Given the description of an element on the screen output the (x, y) to click on. 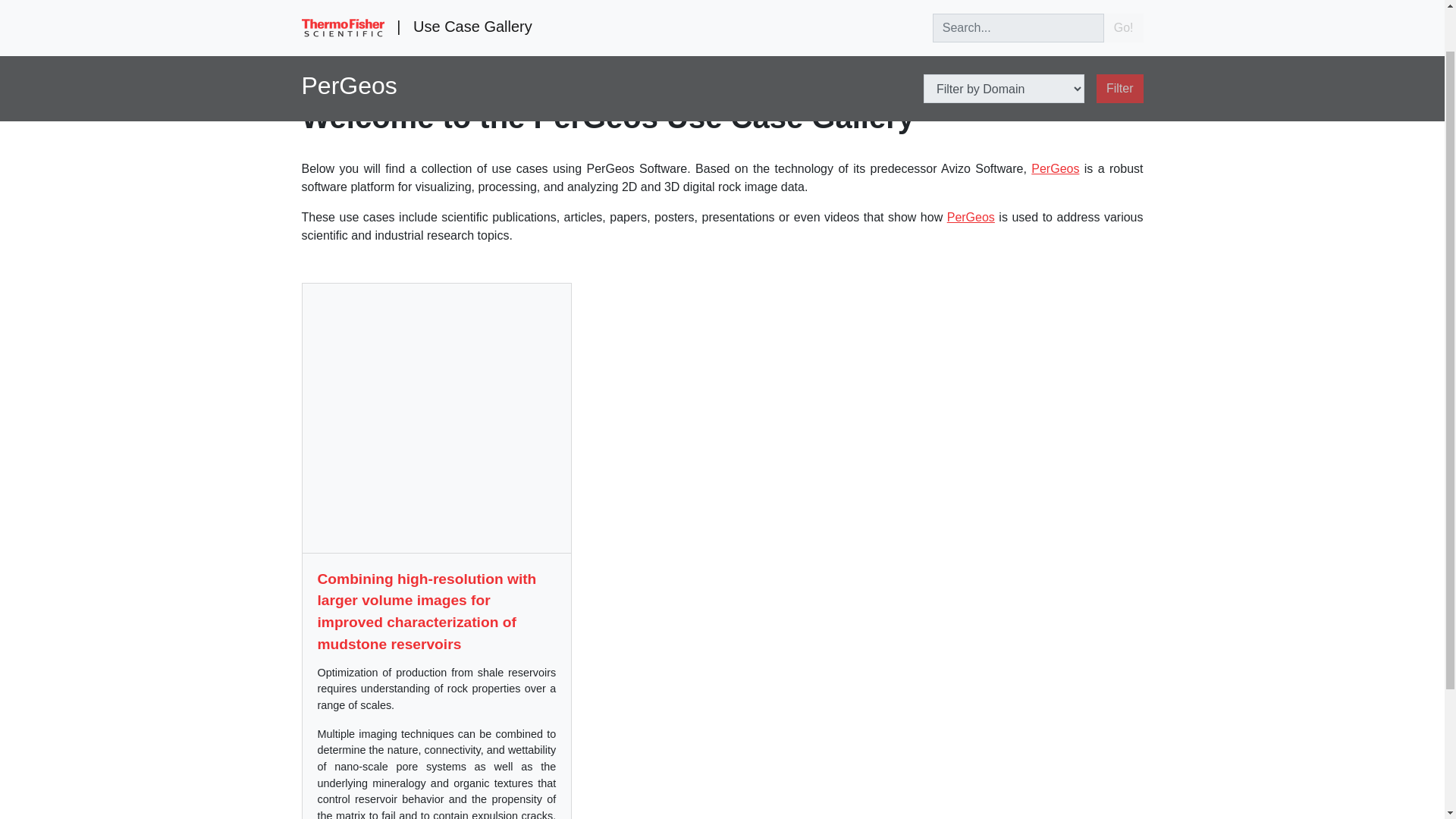
PerGeos (970, 216)
Filter (1119, 36)
PerGeos (1054, 168)
PerGeos (349, 36)
